Given the description of an element on the screen output the (x, y) to click on. 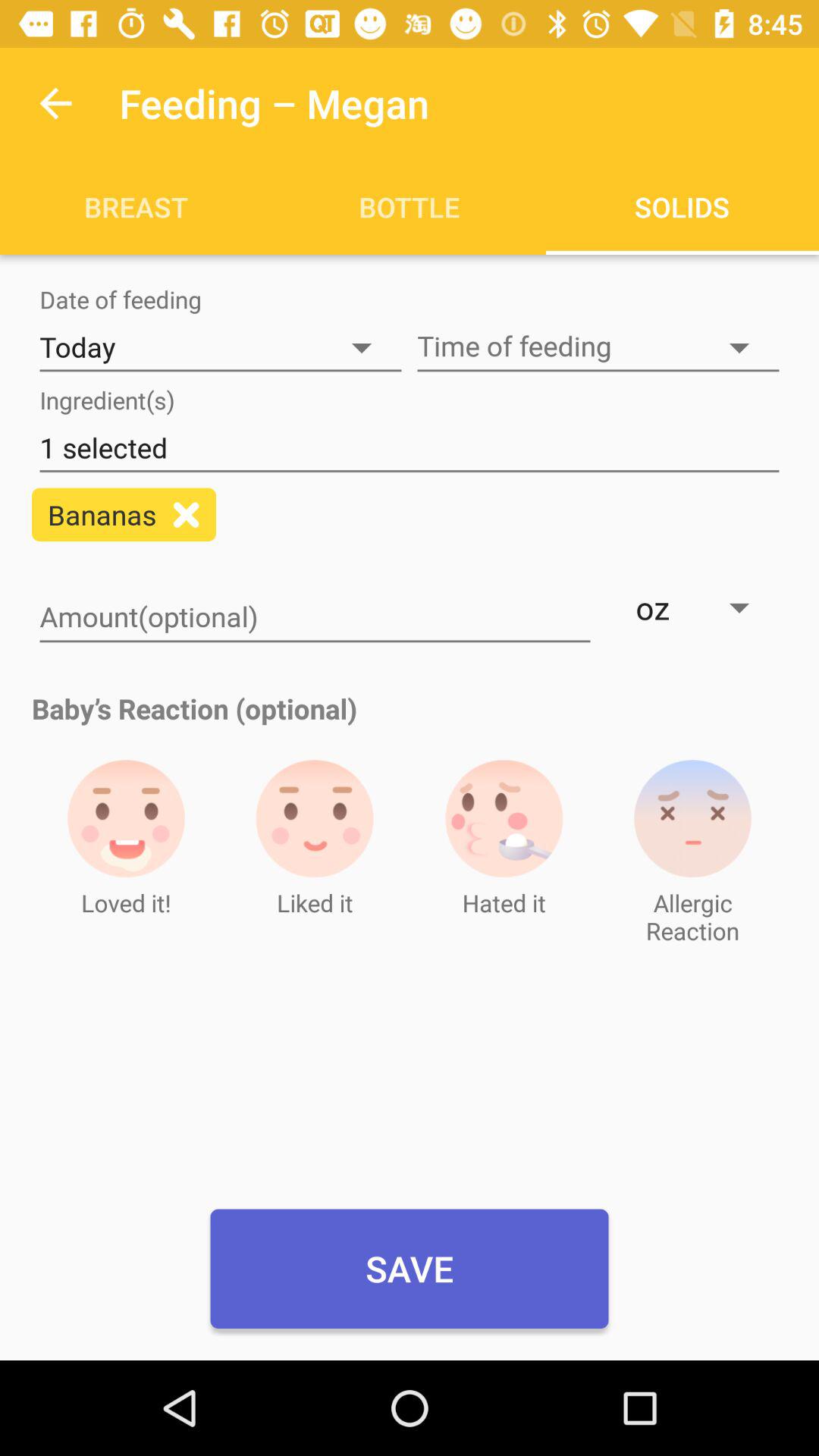
turn on icon below bottle (598, 347)
